Given the description of an element on the screen output the (x, y) to click on. 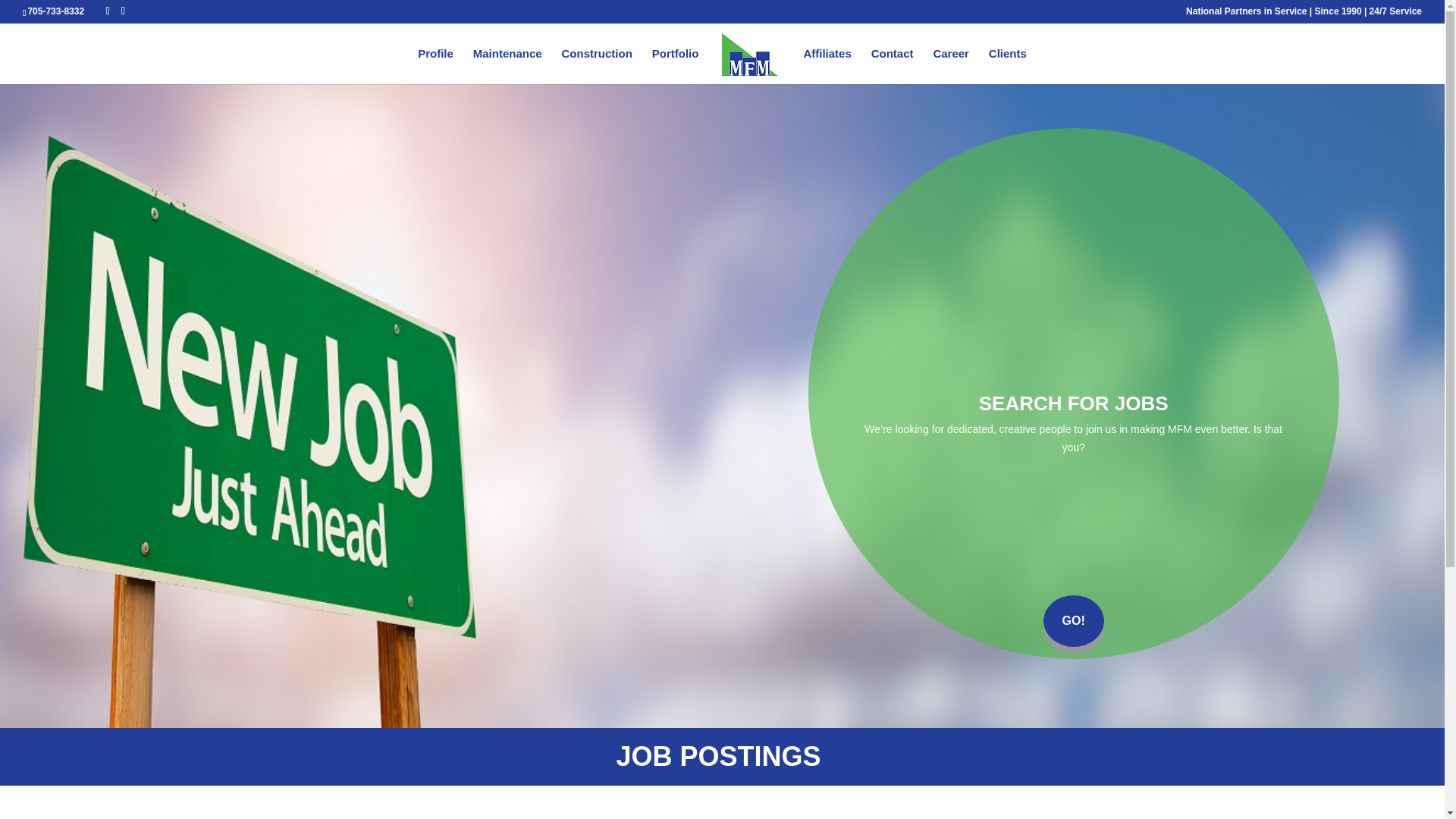
GO! (1073, 621)
Contact (892, 66)
Career (951, 66)
Maintenance (507, 66)
Affiliates (826, 66)
Profile (434, 66)
Construction (595, 66)
Clients (1007, 66)
Portfolio (675, 66)
